Given the description of an element on the screen output the (x, y) to click on. 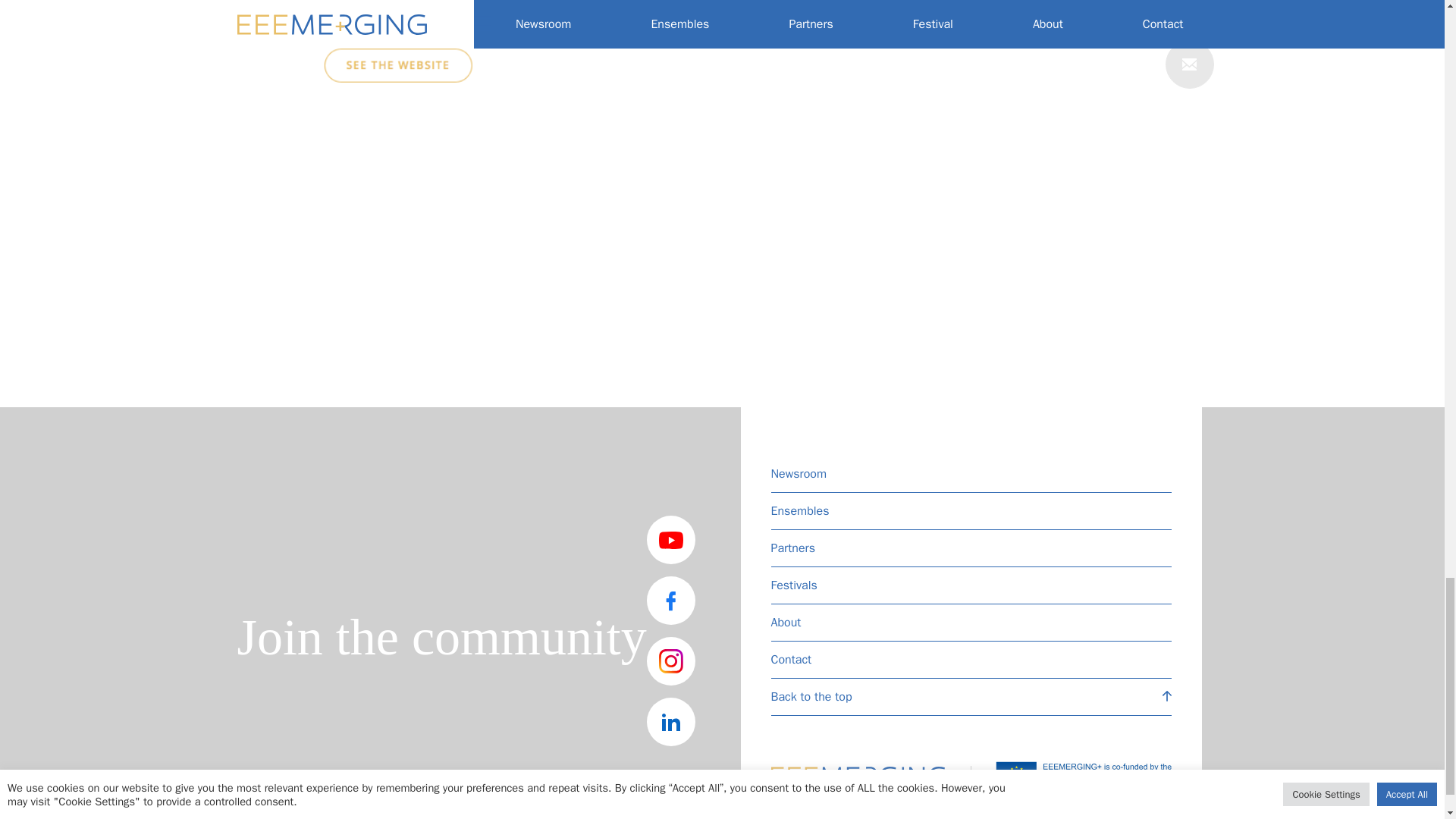
Ensembles (970, 511)
Back to the top (970, 696)
instagram-colored (670, 661)
Instagram (352, 3)
Newsroom (970, 474)
youtube-colored (670, 539)
facebook-colored (670, 600)
Contact (970, 659)
Festivals (970, 585)
Youtube (347, 27)
linkedin-colored (670, 721)
About (970, 622)
Partners (970, 548)
